Given the description of an element on the screen output the (x, y) to click on. 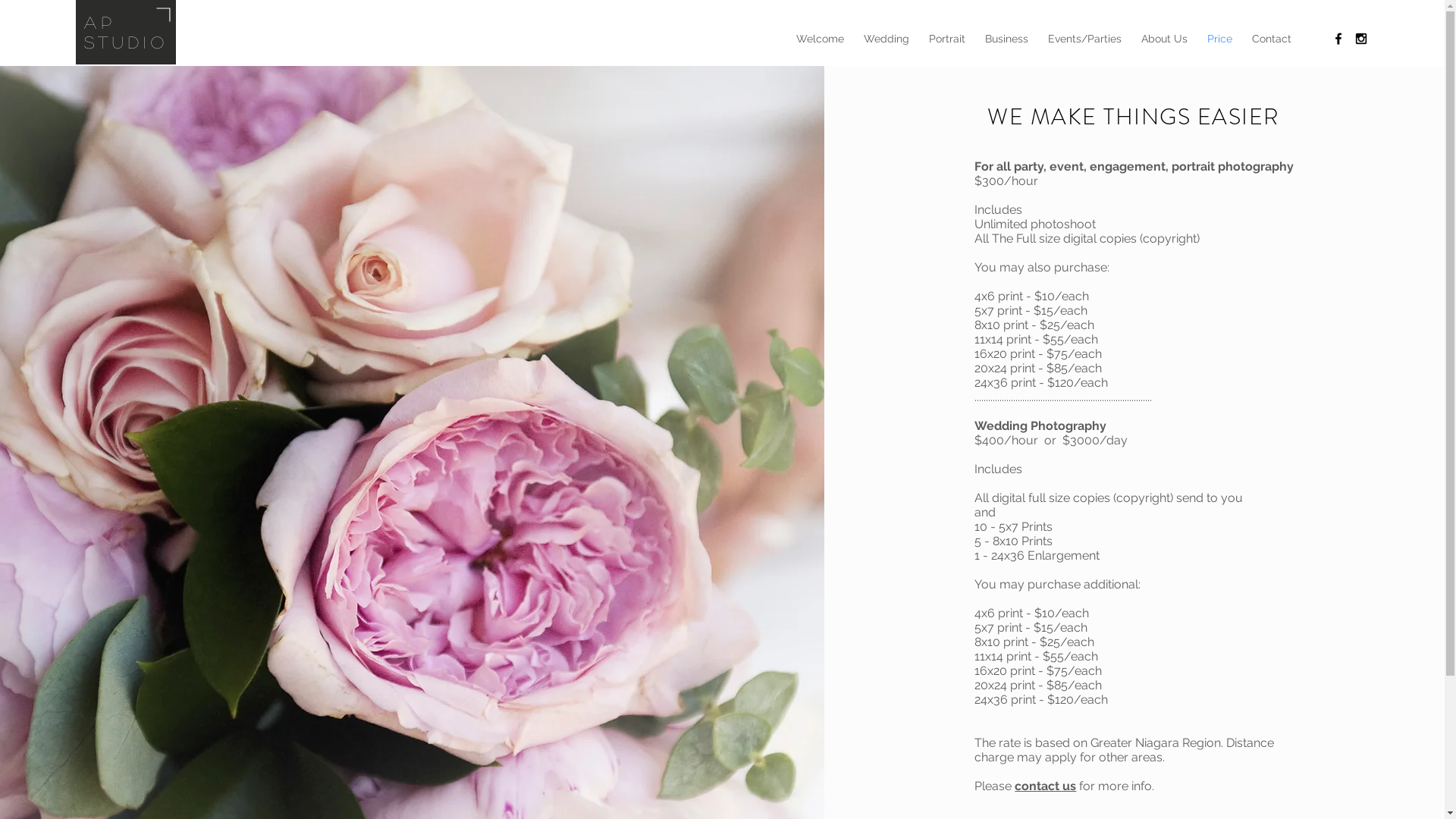
Events/Parties Element type: text (1084, 38)
About Us Element type: text (1164, 38)
Welcome Element type: text (819, 38)
Business Element type: text (1006, 38)
Wedding Element type: text (886, 38)
Contact Element type: text (1271, 38)
Price Element type: text (1219, 38)
contact us Element type: text (1045, 785)
Portrait Element type: text (947, 38)
